Given the description of an element on the screen output the (x, y) to click on. 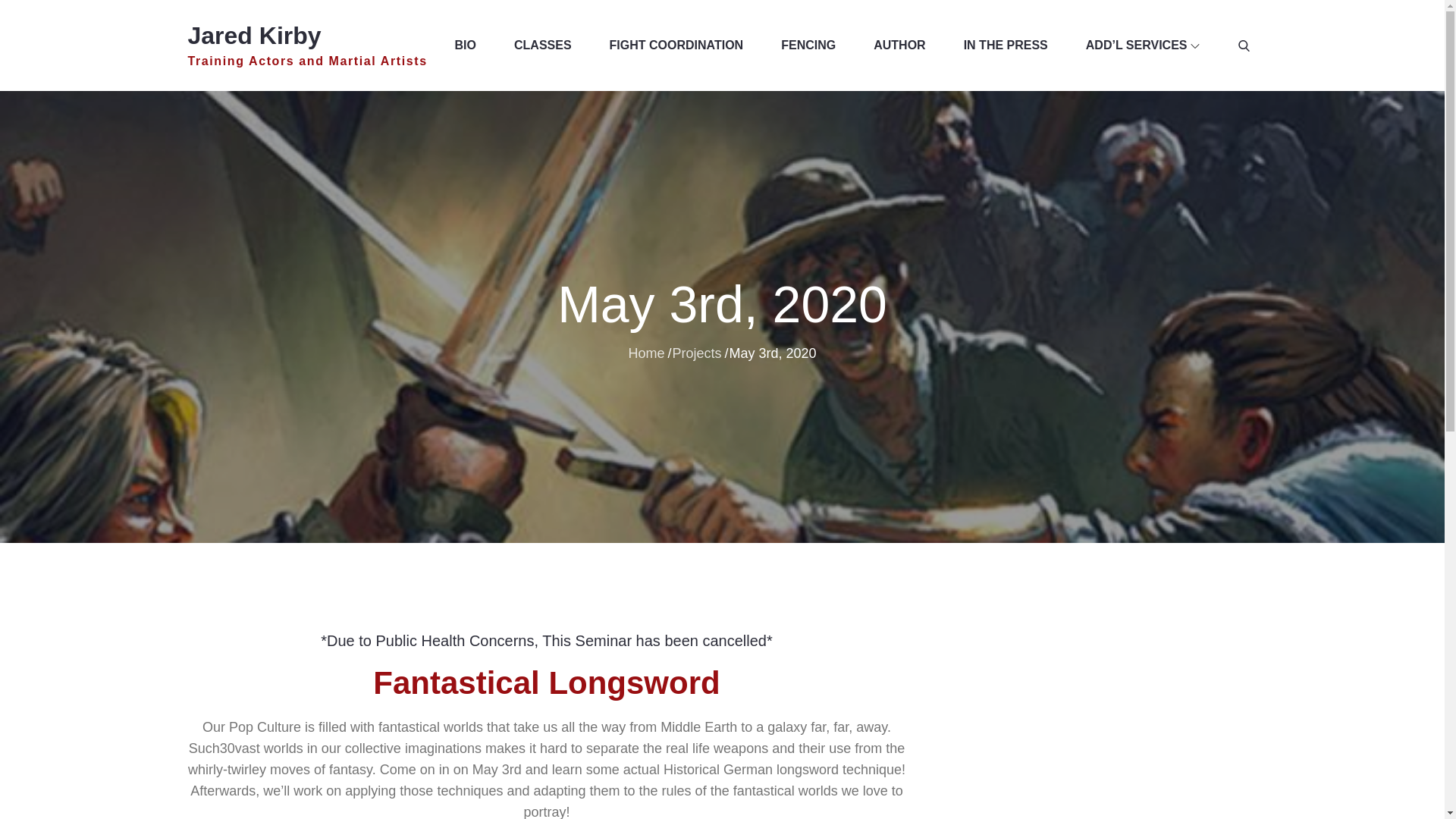
BIO (464, 45)
Home (645, 352)
Projects (695, 352)
Fantastical Longsword (545, 683)
FIGHT COORDINATION (676, 45)
CLASSES (542, 45)
IN THE PRESS (1005, 45)
Jared Kirby (254, 35)
AUTHOR (899, 45)
FENCING (808, 45)
